Given the description of an element on the screen output the (x, y) to click on. 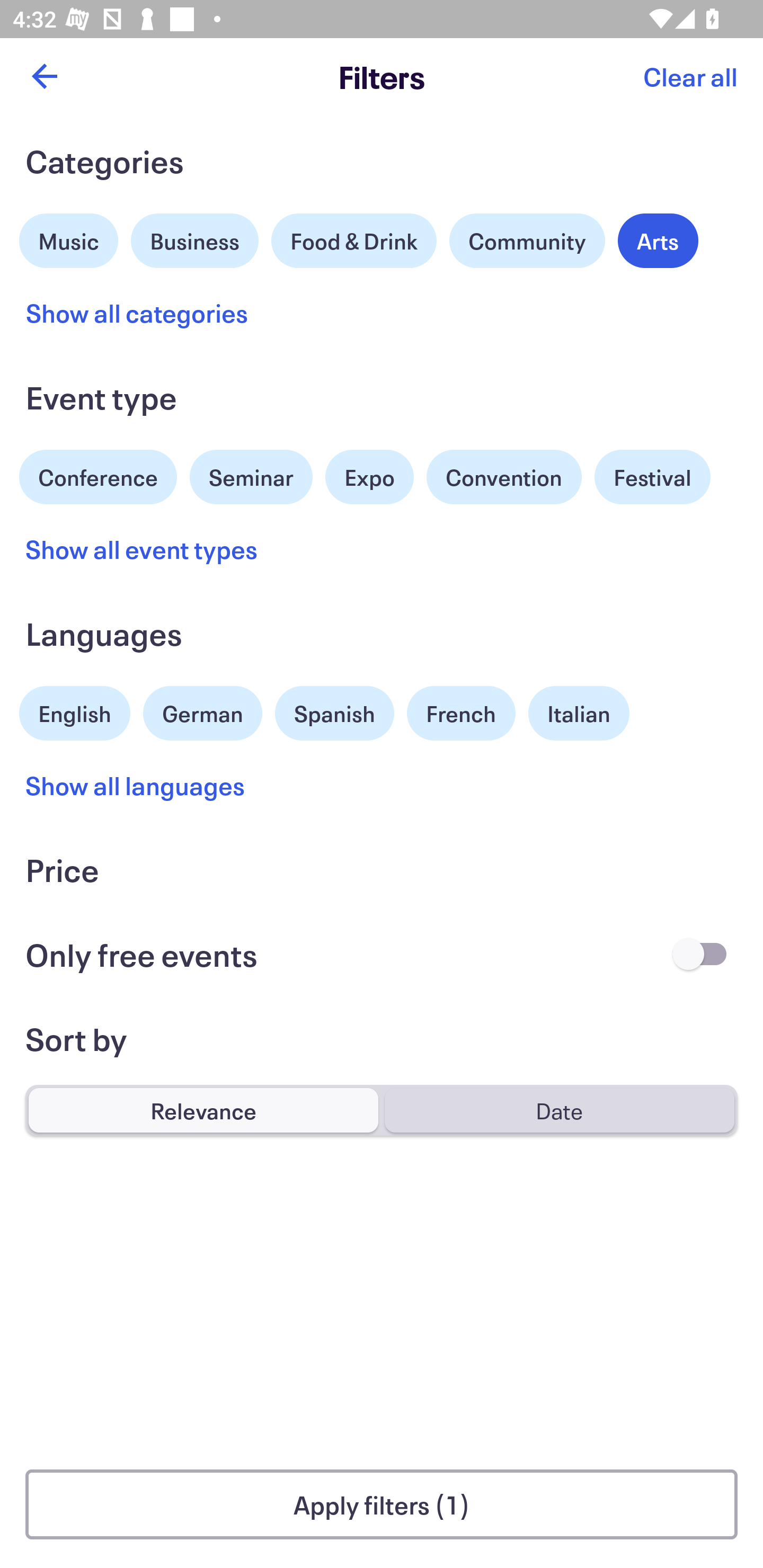
Back button (44, 75)
Clear all (690, 75)
Music (68, 238)
Business (194, 238)
Food & Drink (353, 240)
Community (527, 240)
Arts (658, 240)
Show all categories (136, 312)
Conference (98, 475)
Seminar (250, 477)
Expo (369, 477)
Convention (503, 477)
Festival (652, 477)
Show all event types (141, 548)
English (74, 710)
German (202, 710)
Spanish (334, 713)
French (460, 713)
Italian (578, 713)
Show all languages (135, 784)
Relevance (203, 1109)
Date (559, 1109)
Apply filters (1) (381, 1504)
